Given the description of an element on the screen output the (x, y) to click on. 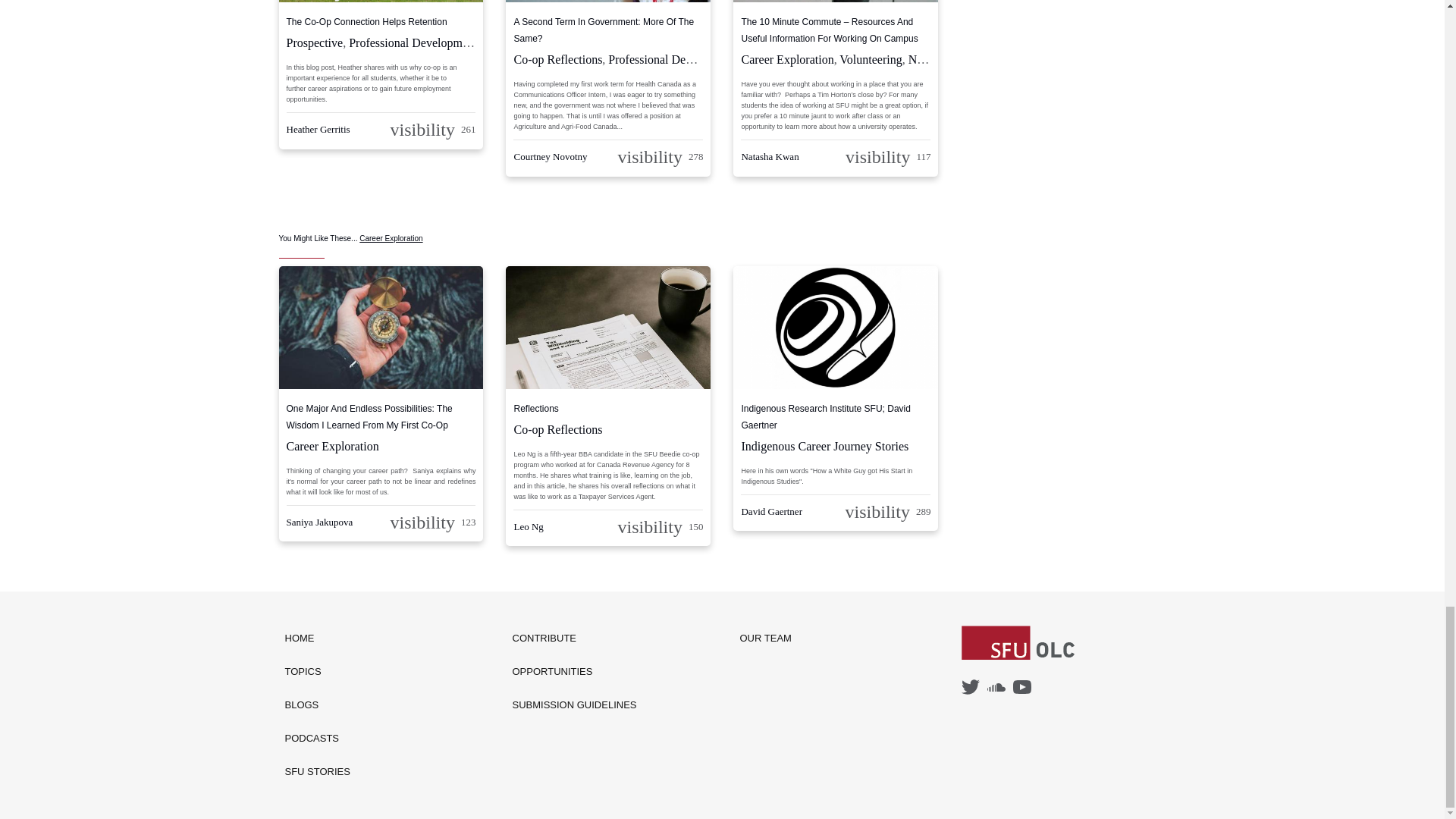
OLC Blogs (317, 704)
Contribute to the OLC (574, 638)
